Given the description of an element on the screen output the (x, y) to click on. 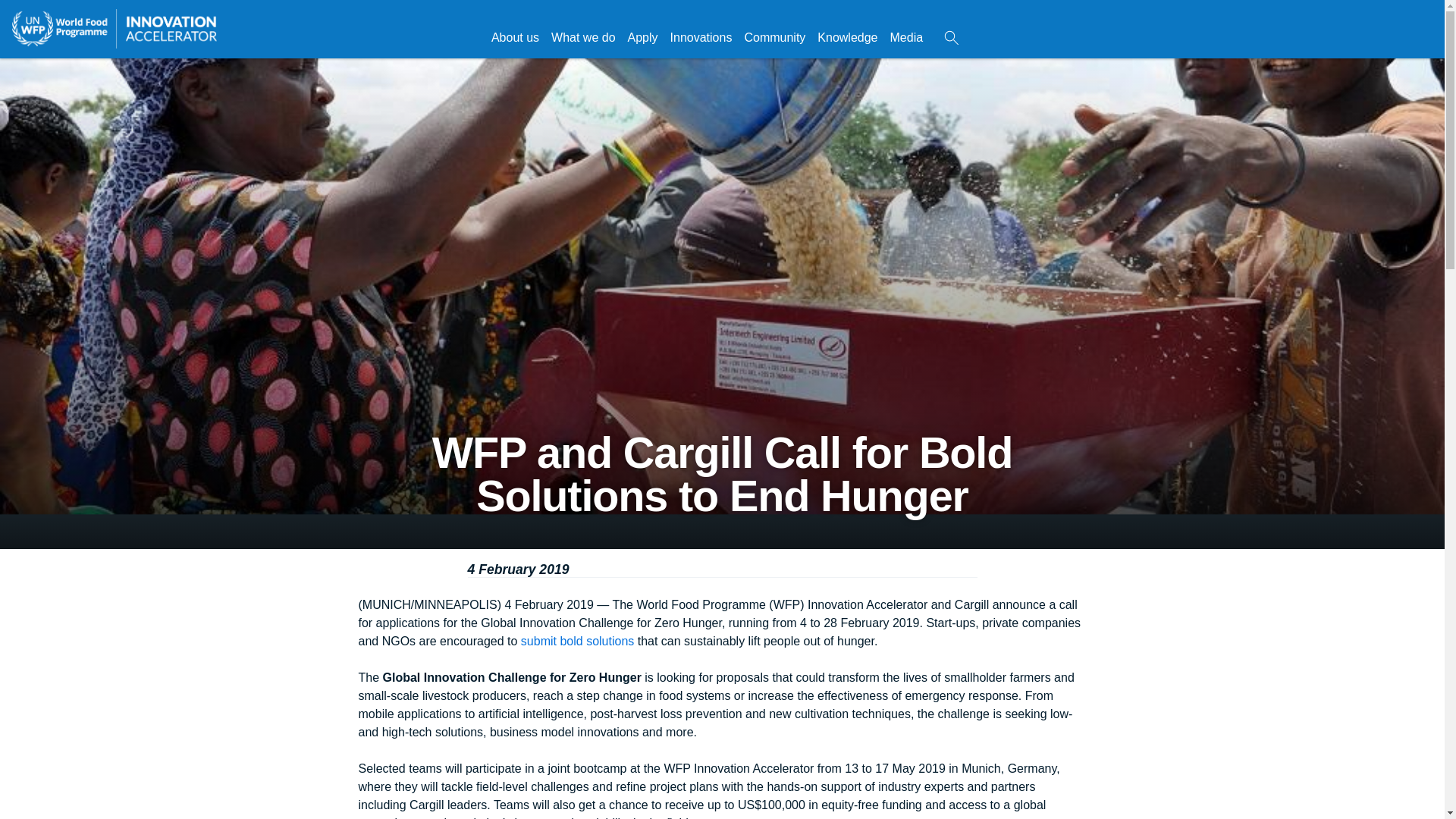
submit bold solutions (579, 640)
Apply to the WFP Innovation Accelerator (642, 37)
What we do (582, 37)
Innovations supported by the WFP Innovation Accelerator (700, 37)
News, blogs and updates (906, 37)
WFP Field Innovation Hubs (774, 37)
Search (951, 37)
Knowledge (846, 37)
Media (906, 37)
Innovations (700, 37)
Apply (642, 37)
About the WFP Innovation Accelerator (514, 37)
Community (774, 37)
About us (514, 37)
